Given the description of an element on the screen output the (x, y) to click on. 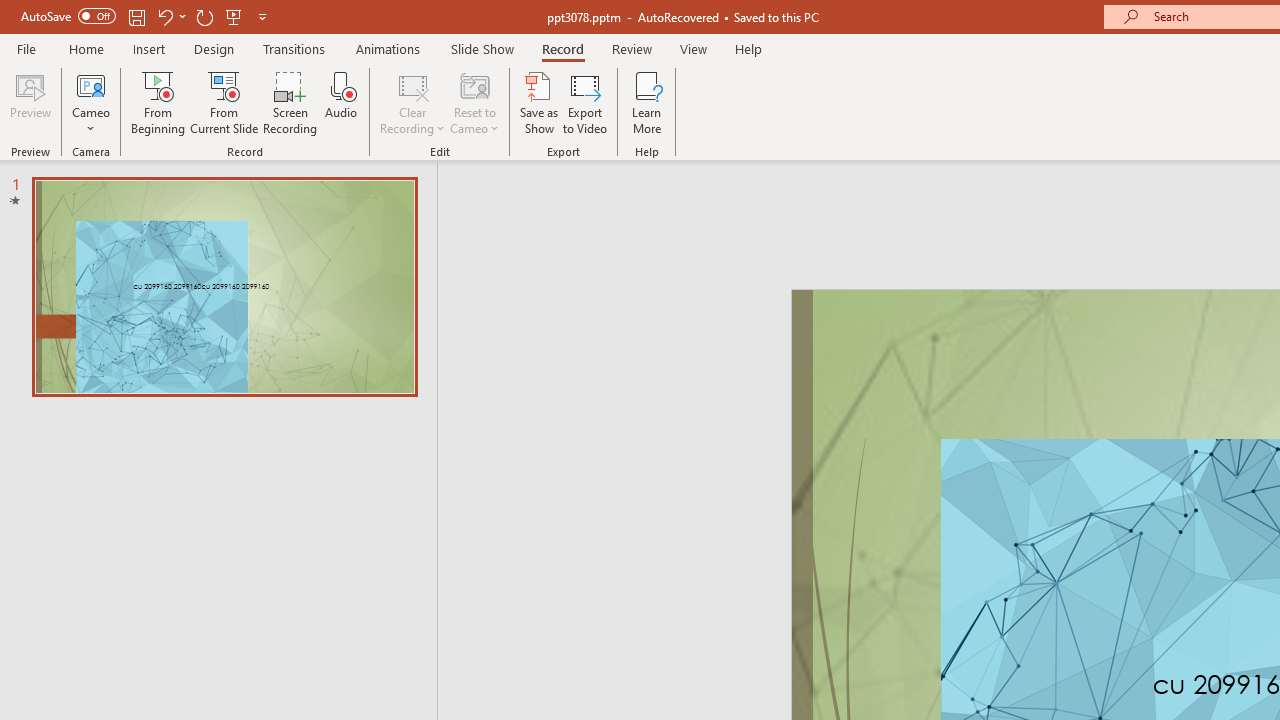
Design (214, 48)
From Beginning... (158, 102)
Learn More (646, 102)
Audio (341, 102)
Customize Quick Access Toolbar (262, 15)
Quick Access Toolbar (145, 16)
Cameo (91, 84)
Transitions (294, 48)
Review (631, 48)
Clear Recording (412, 102)
Redo (204, 15)
Slide (224, 286)
Animations (388, 48)
